Given the description of an element on the screen output the (x, y) to click on. 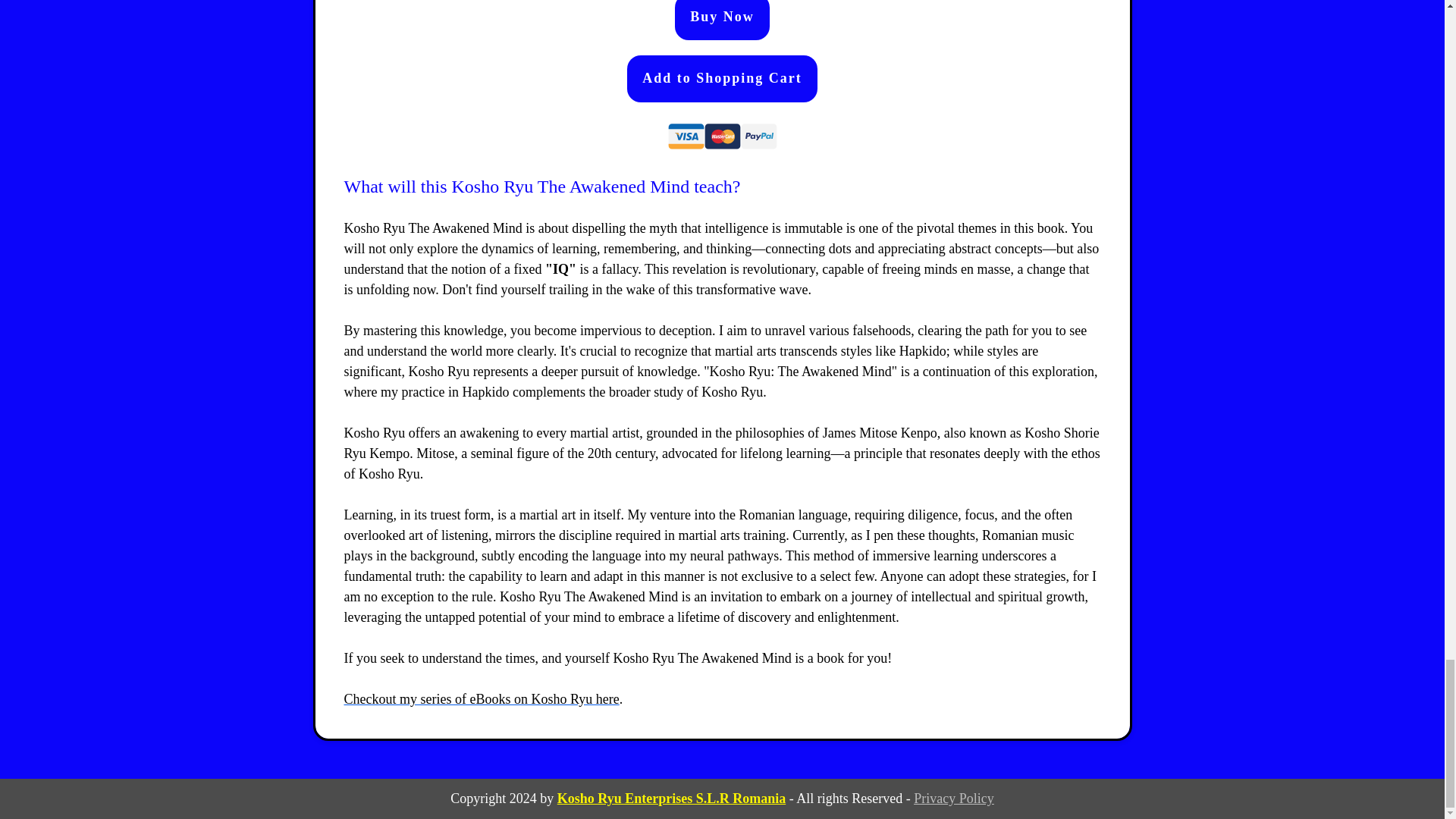
Add to Shopping Cart (721, 78)
Buy Now (722, 20)
Checkout my series of eBooks on Kosho Ryu here (481, 698)
Kosho Ryu Enterprises S.L.R Romania (671, 798)
Privacy Policy (954, 798)
